Given the description of an element on the screen output the (x, y) to click on. 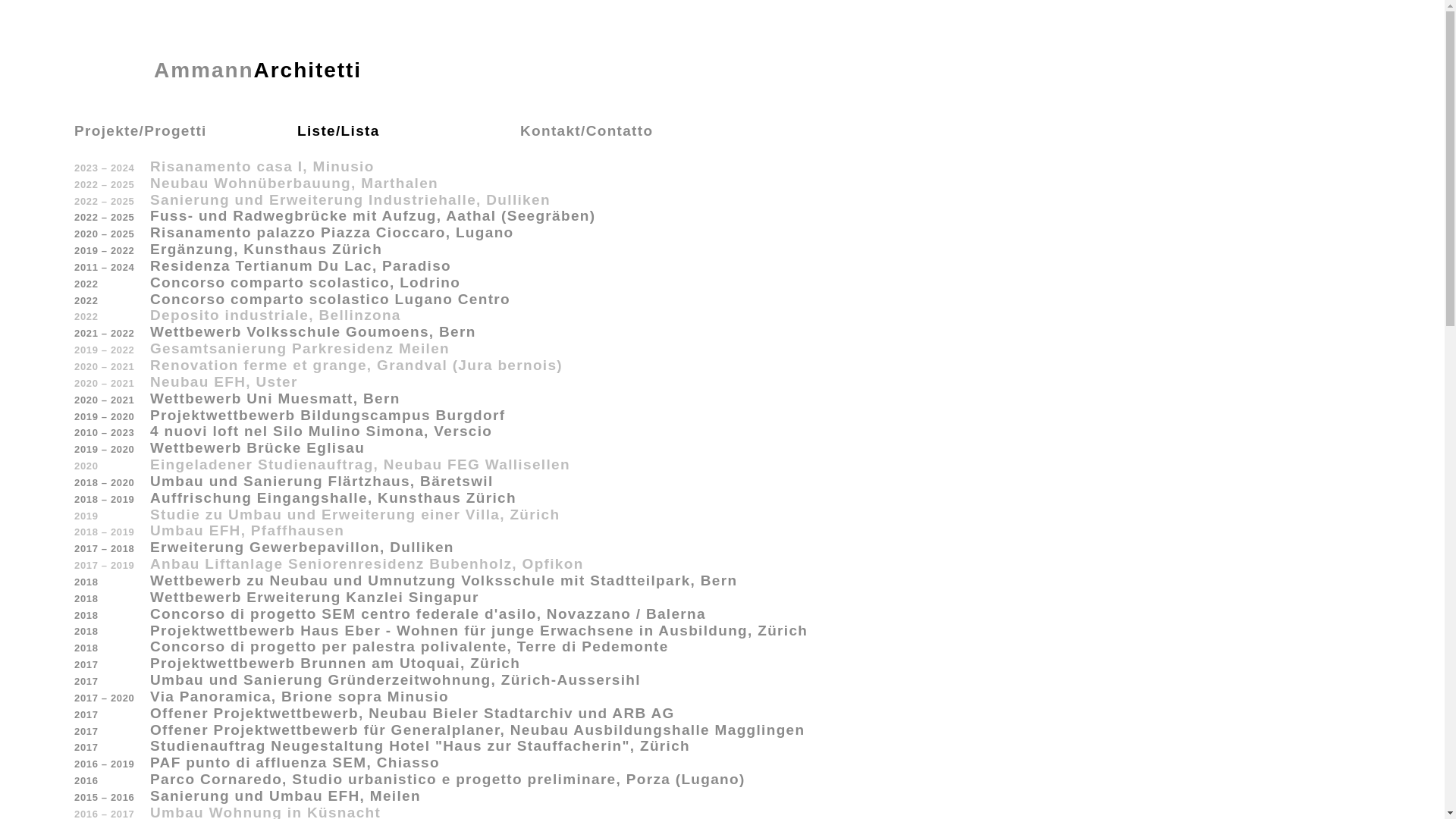
2022
Concorso comparto scolastico Lugano Centro Element type: text (722, 299)
2020
Eingeladener Studienauftrag, Neubau FEG Wallisellen Element type: text (722, 464)
2022
Concorso comparto scolastico, Lodrino Element type: text (722, 282)
Liste/Lista Element type: text (408, 131)
2018
Wettbewerb Erweiterung Kanzlei Singapur Element type: text (722, 597)
2022
Deposito industriale, Bellinzona Element type: text (722, 315)
Projekte/Progetti Element type: text (185, 131)
AmmannArchitetti Element type: text (217, 70)
Kontakt/Contatto Element type: text (631, 131)
